Given the description of an element on the screen output the (x, y) to click on. 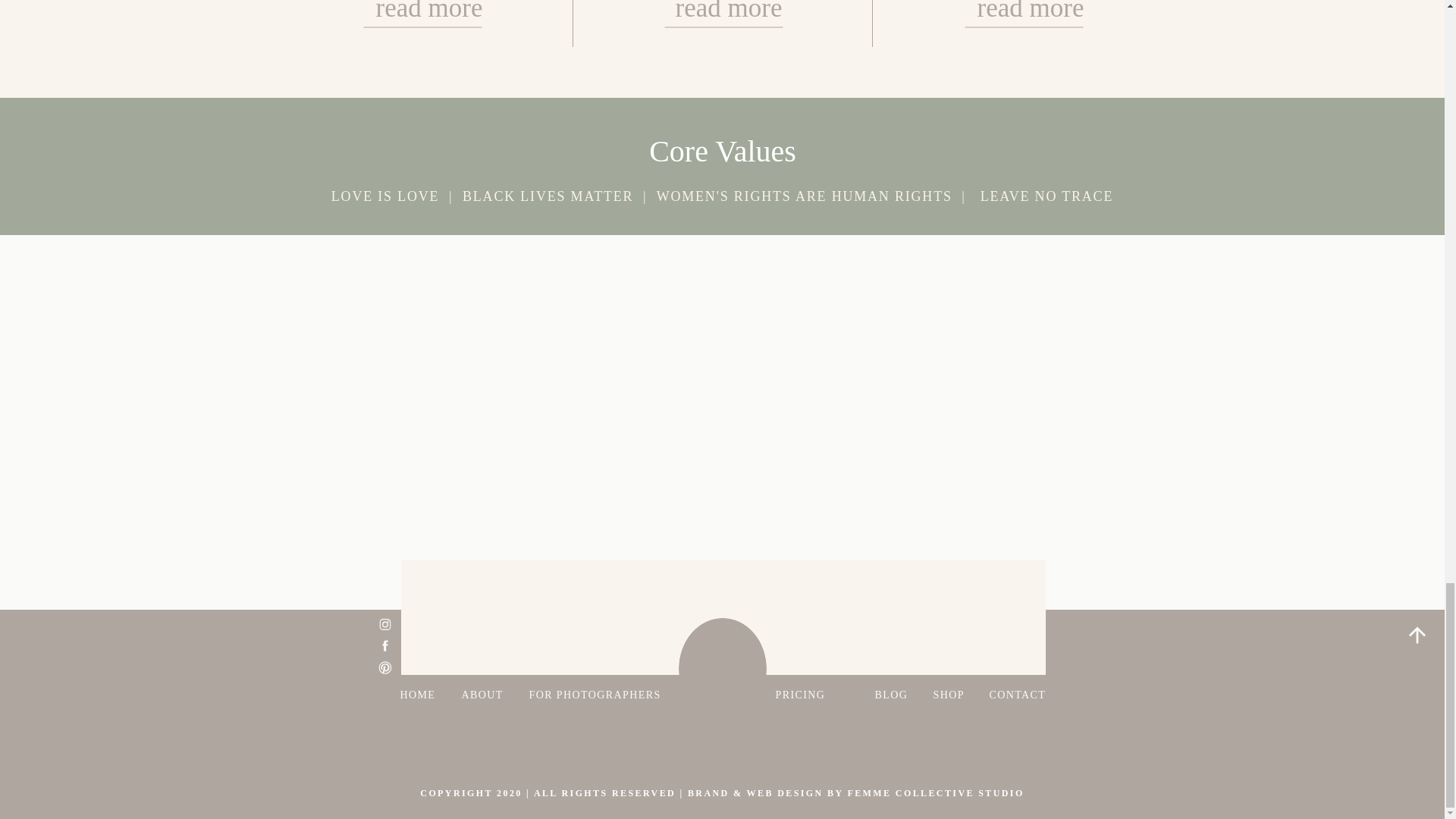
FOR PHOTOGRAPHERS (596, 692)
PRICING (812, 692)
BLOG (893, 692)
SHOP (949, 692)
read more (422, 18)
Fun Boat Engagement Photos Wayzata MN (721, 18)
CONTACT (1018, 693)
Winter Minnesota Courthouse Elopement (422, 18)
read more (1022, 18)
ABOUT (483, 692)
